Given the description of an element on the screen output the (x, y) to click on. 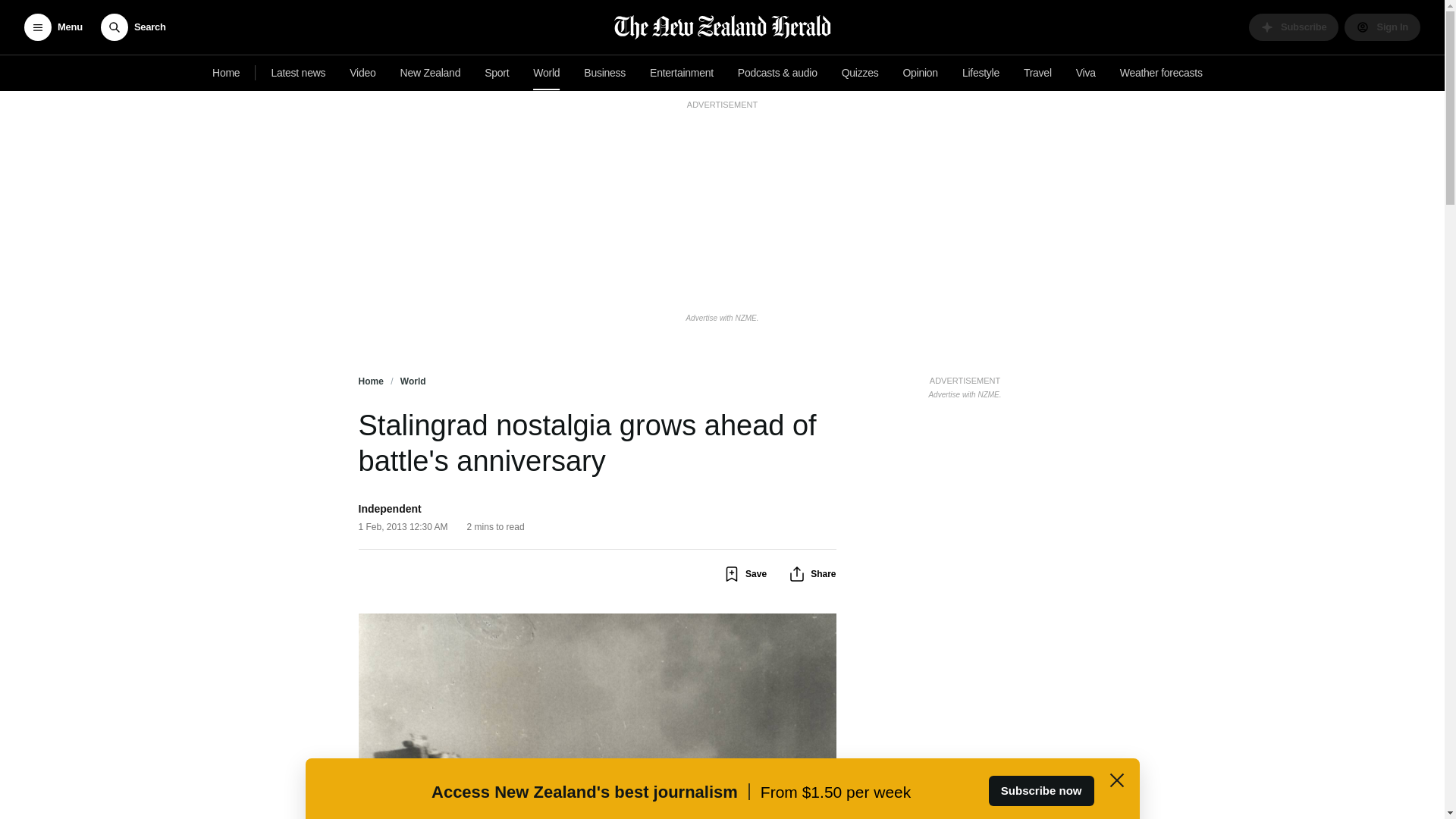
Lifestyle (981, 72)
New Zealand (430, 72)
Subscribe (1294, 26)
Sign In (1382, 26)
Weather forecasts (1160, 72)
Video (362, 72)
Menu (53, 26)
Travel (1037, 72)
Quizzes (860, 72)
Business (604, 72)
